Given the description of an element on the screen output the (x, y) to click on. 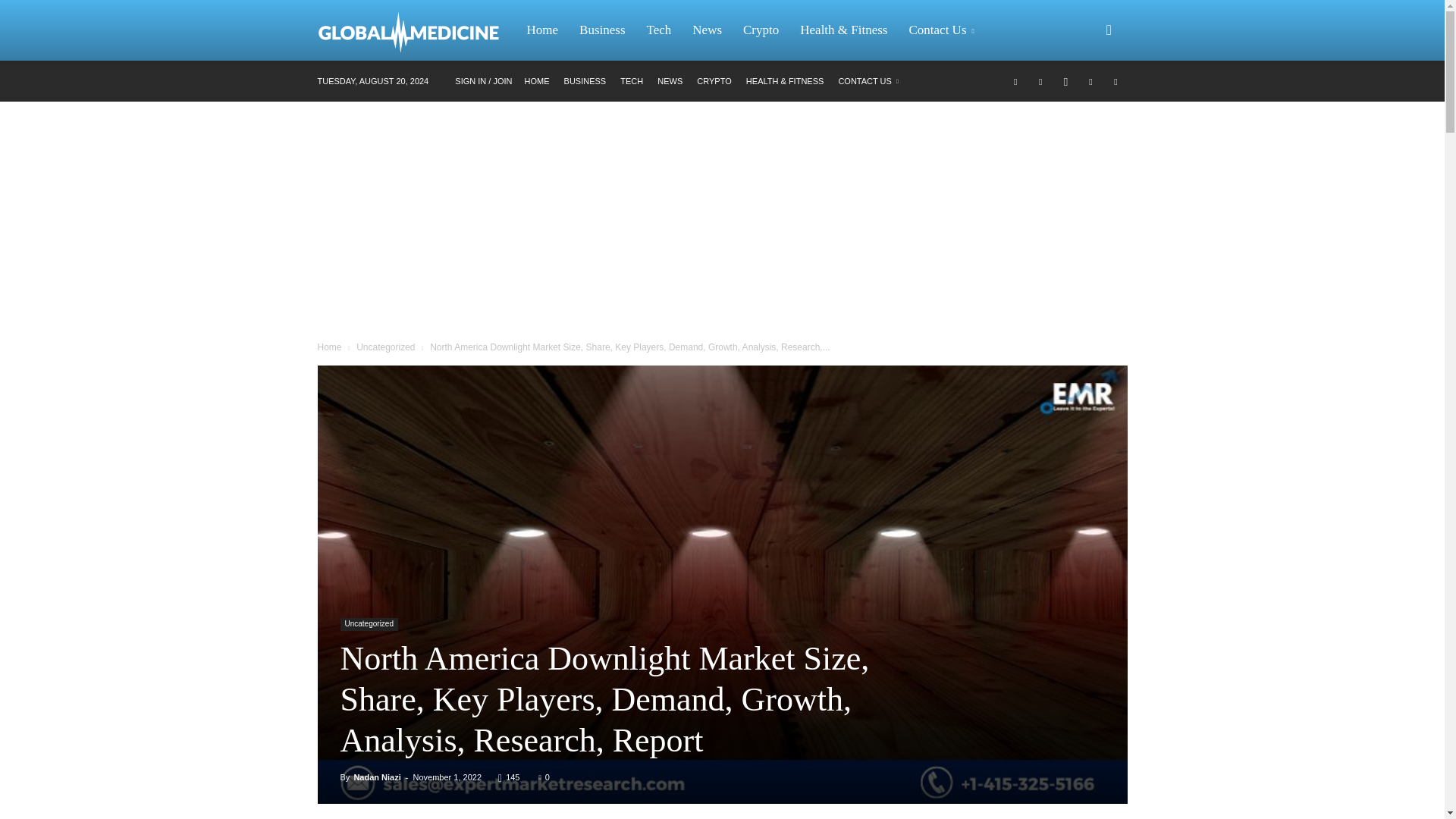
TECH (631, 80)
NEWS (670, 80)
Business (601, 30)
Crypto (760, 30)
BUSINESS (585, 80)
View all posts in Uncategorized (385, 347)
DailyTimeZone (416, 30)
Contact Us (944, 30)
HOME (537, 80)
